Given the description of an element on the screen output the (x, y) to click on. 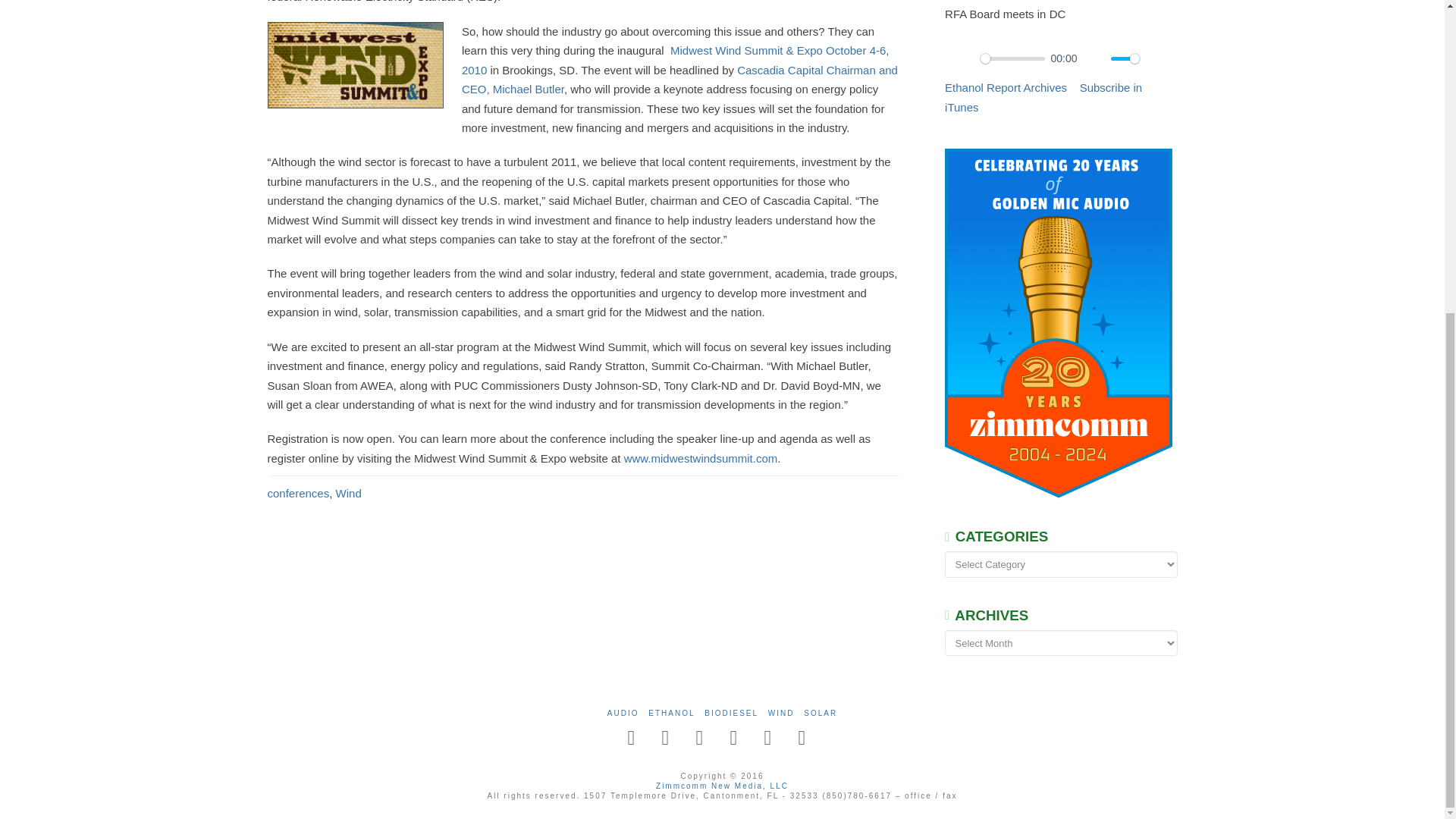
Cascadia Capital Chairman and CEO, Michael Butler (679, 79)
MidwestWindSummit (354, 65)
0 (1012, 58)
conferences (297, 492)
1 (1125, 58)
Wind (348, 492)
www.midwestwindsummit.com (700, 458)
